Given the description of an element on the screen output the (x, y) to click on. 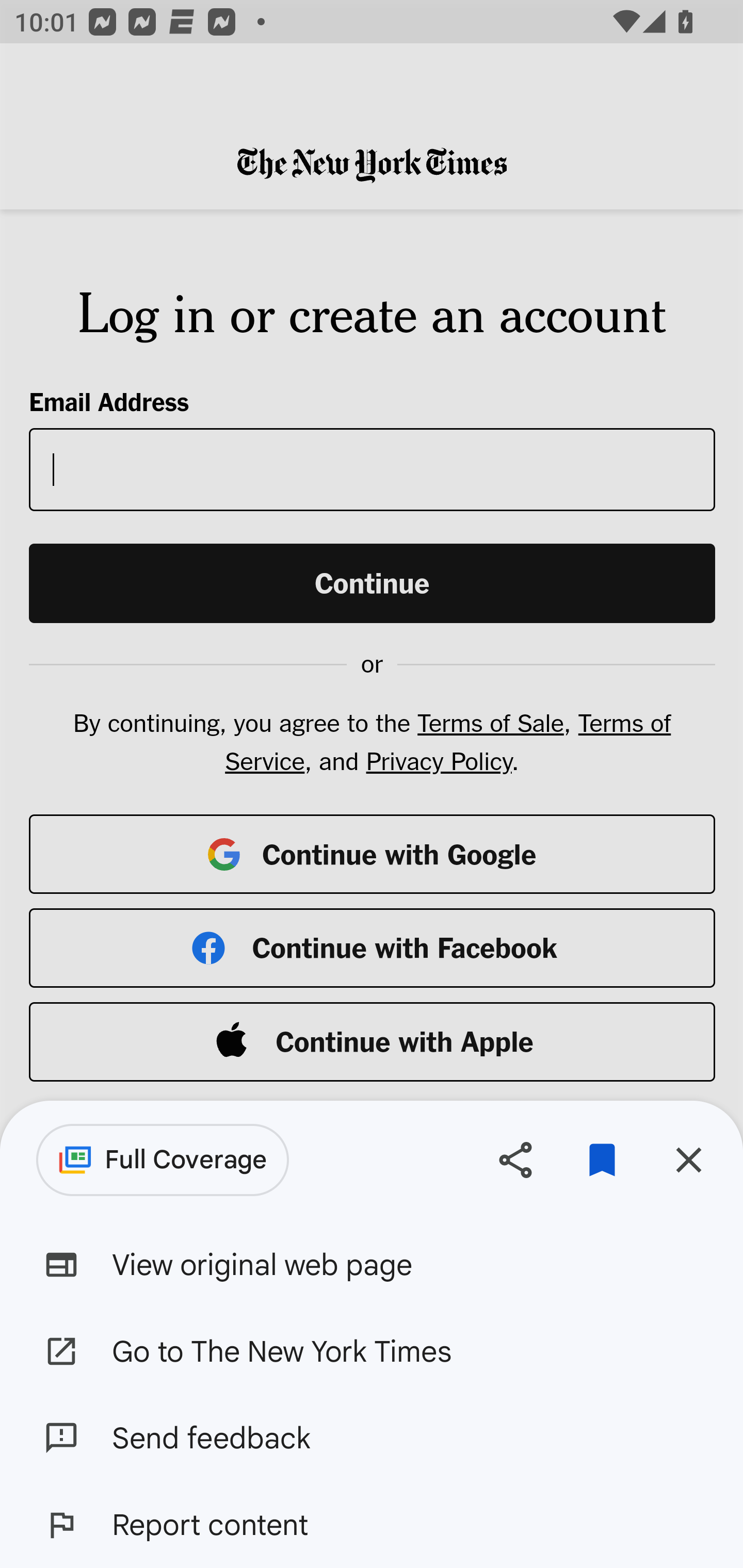
Share (514, 1159)
Remove from saved stories (601, 1159)
Close (688, 1159)
Full Coverage (162, 1160)
View original web page (371, 1264)
Go to The New York Times (371, 1350)
Send feedback (371, 1437)
Report content (371, 1524)
